Given the description of an element on the screen output the (x, y) to click on. 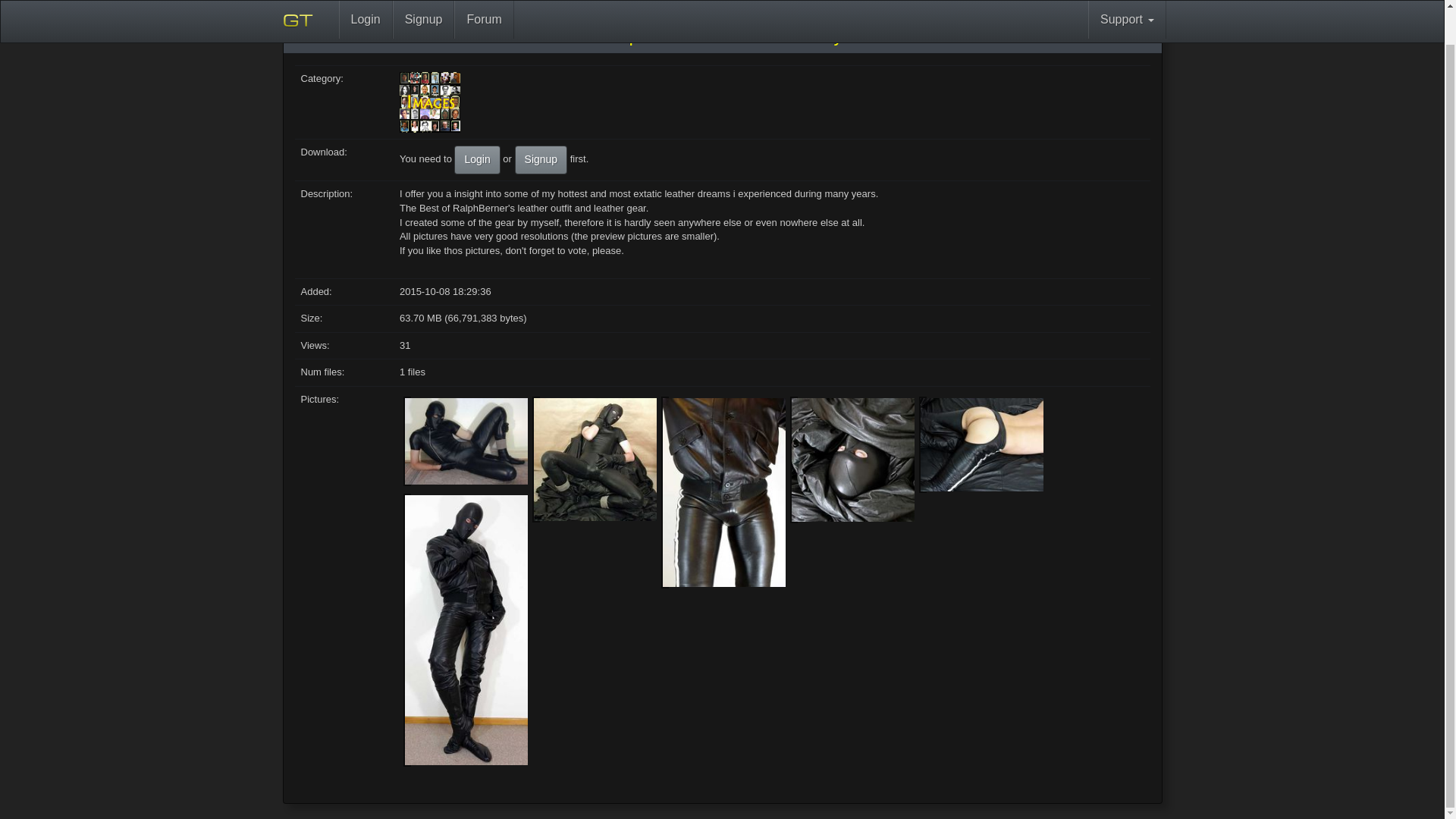
Forum (483, 1)
Login (364, 1)
Signup (423, 1)
Support (1126, 1)
Login (476, 159)
Signup (541, 159)
